Given the description of an element on the screen output the (x, y) to click on. 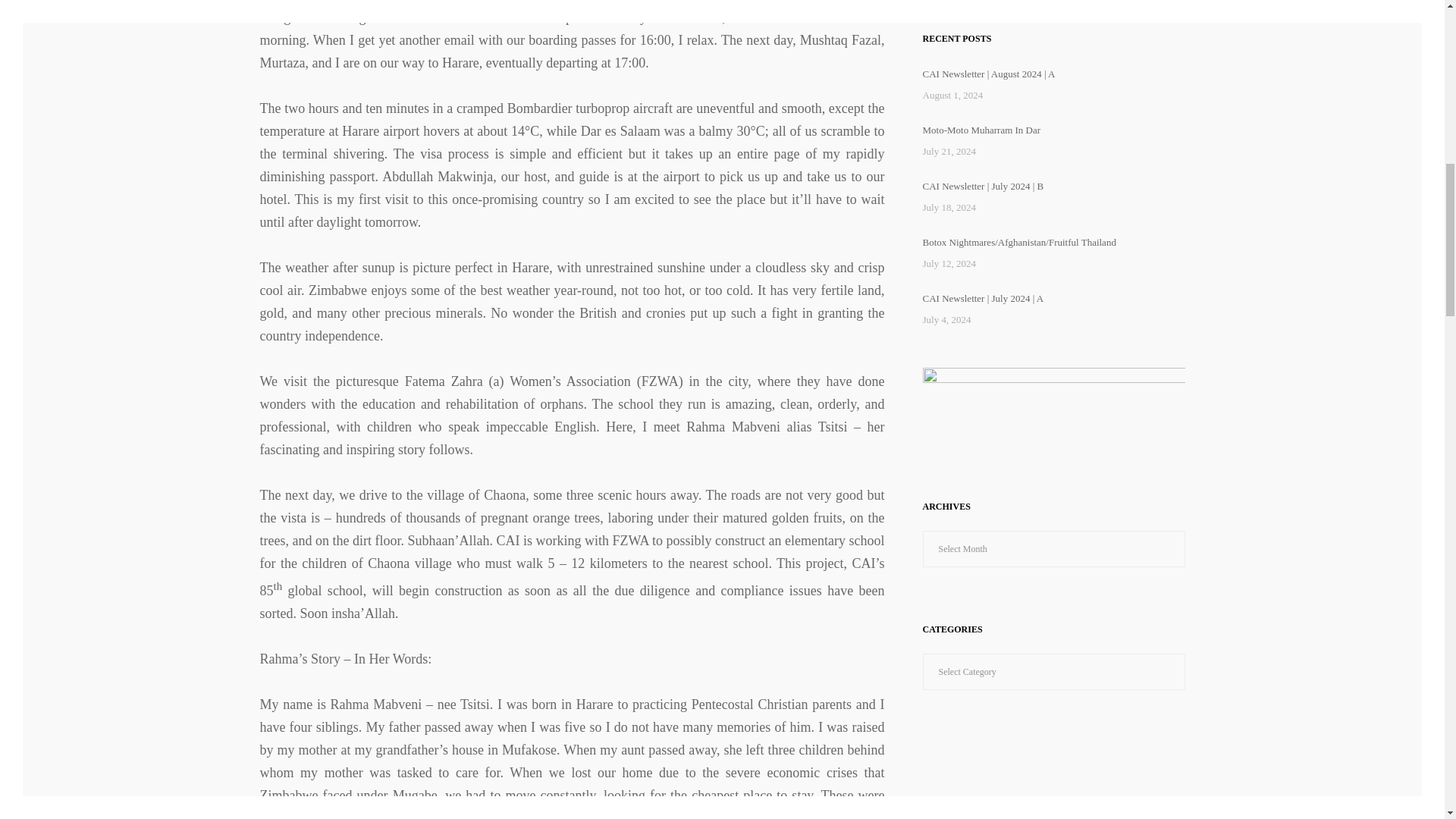
Moto-Moto Muharram In Dar (981, 129)
